Given the description of an element on the screen output the (x, y) to click on. 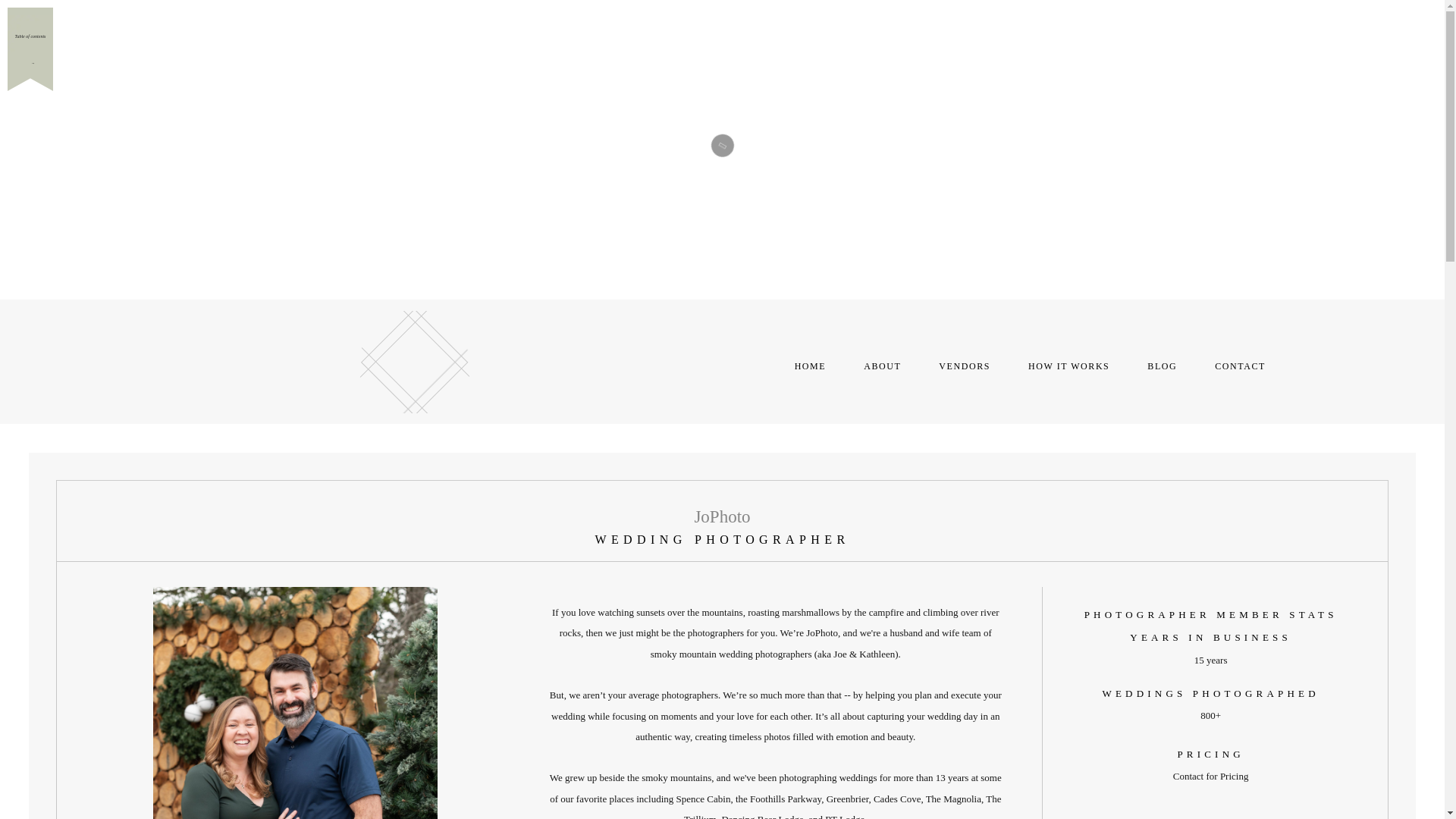
ABOUT (882, 366)
HOW IT WORKS (1068, 366)
CONTACT (1239, 366)
VENDORS (964, 366)
BLOG (1161, 366)
HOME (810, 366)
